Given the description of an element on the screen output the (x, y) to click on. 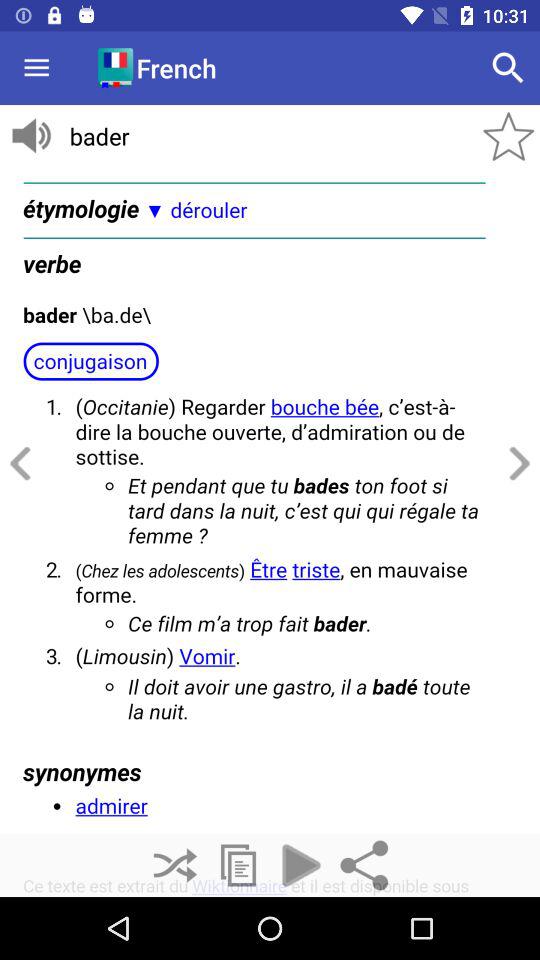
next button (516, 463)
